Given the description of an element on the screen output the (x, y) to click on. 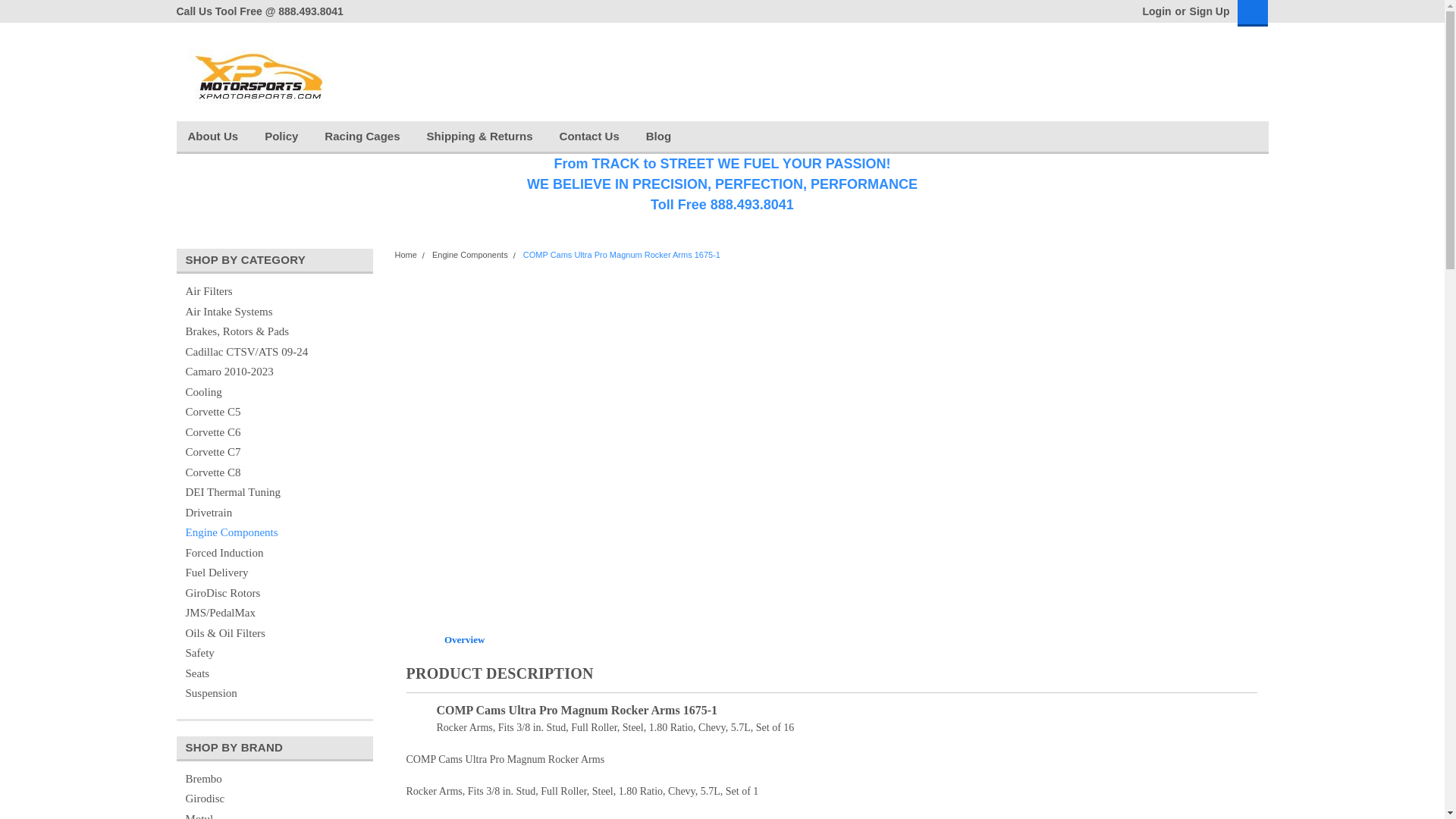
Login (1155, 11)
XP MOTORSPORTS (254, 71)
Sign Up (1208, 11)
